Given the description of an element on the screen output the (x, y) to click on. 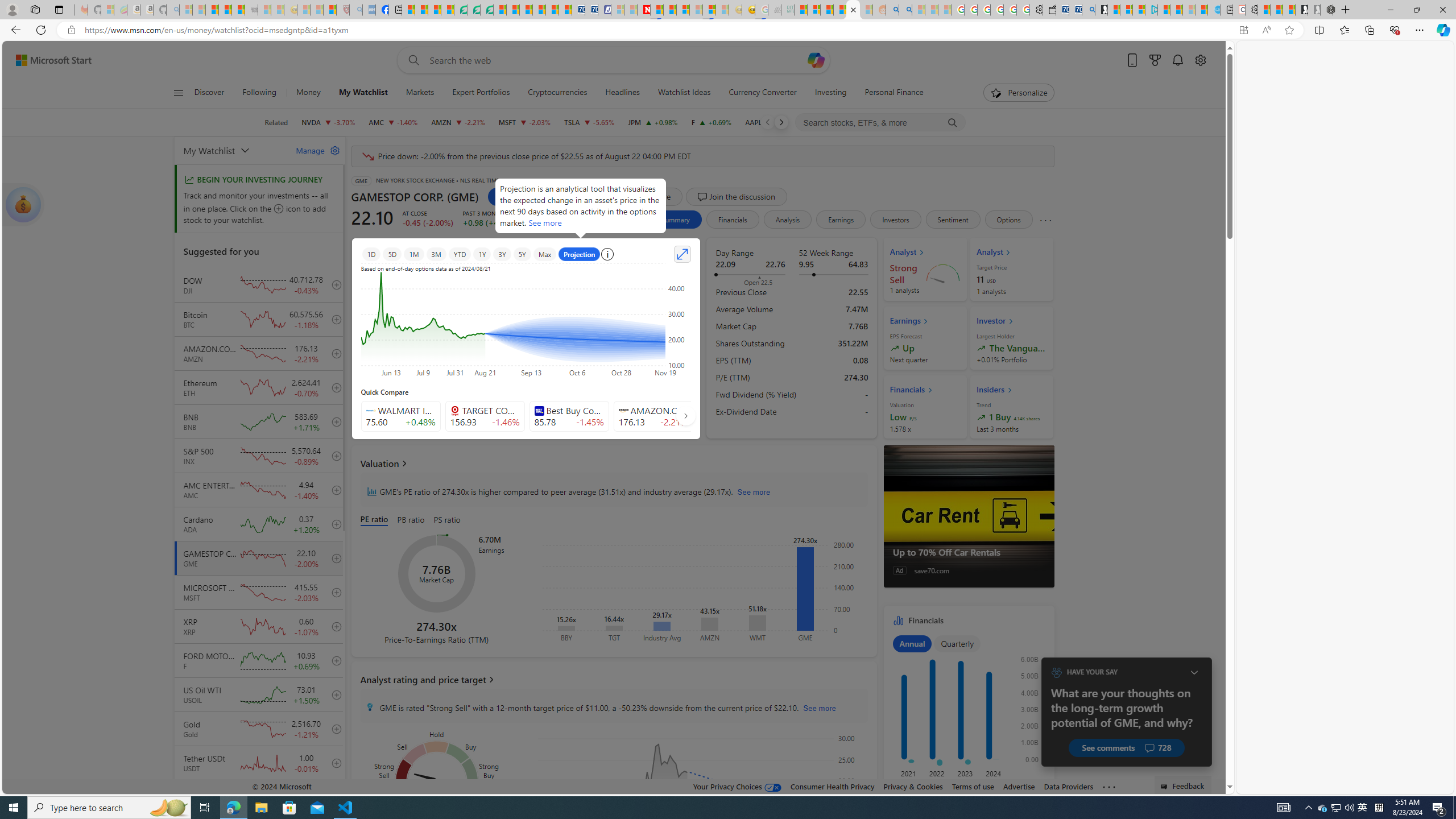
Consumer Health Privacy (832, 786)
App available. Install Start Money (1243, 29)
Bing Real Estate - Home sales and rental listings (1088, 9)
Investing (830, 92)
1D (371, 254)
Class: card_head_icon_lightMode-DS-EntryPoint1-1 (1009, 389)
1M (413, 254)
AutomationID: finance_carousel_navi_right (685, 415)
Latest Politics News & Archive | Newsweek.com (643, 9)
MSNBC - MSN (800, 9)
